Given the description of an element on the screen output the (x, y) to click on. 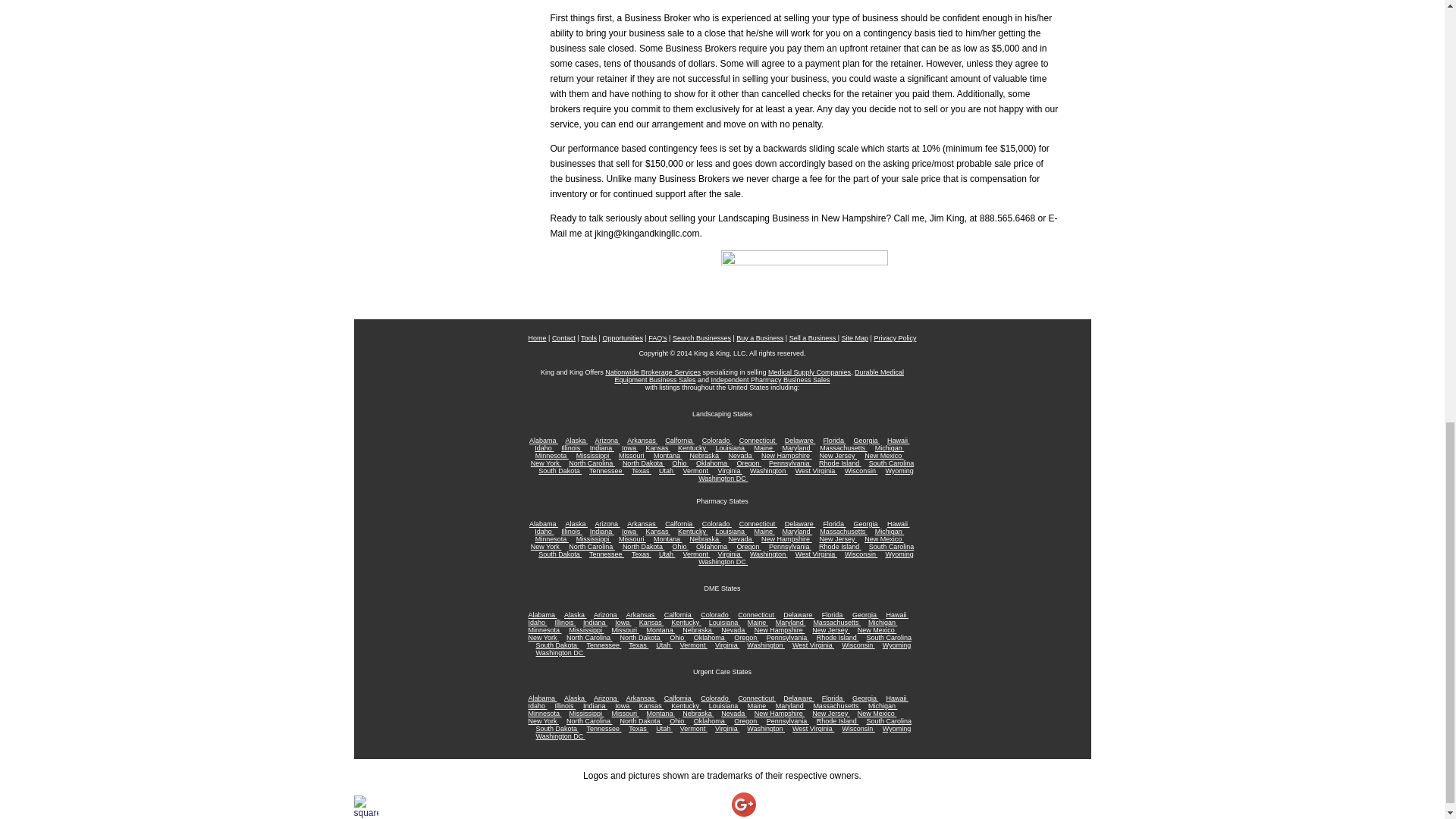
Helpful Tools and Forms for Selling or Buying a Business (588, 338)
Learn more About Selling Your Independent Pharmacy (769, 379)
Affiliate with King and King Brokerage Services (652, 371)
Selling a Landscaping business in Alabama (543, 440)
Selling a Landscaping business in Alaska (577, 440)
Sell or Purchase a Business Today! (701, 338)
Buy a Pharmacy, DME, or Other Business (759, 338)
Privacy Policy for King and King LLC (894, 338)
